Given the description of an element on the screen output the (x, y) to click on. 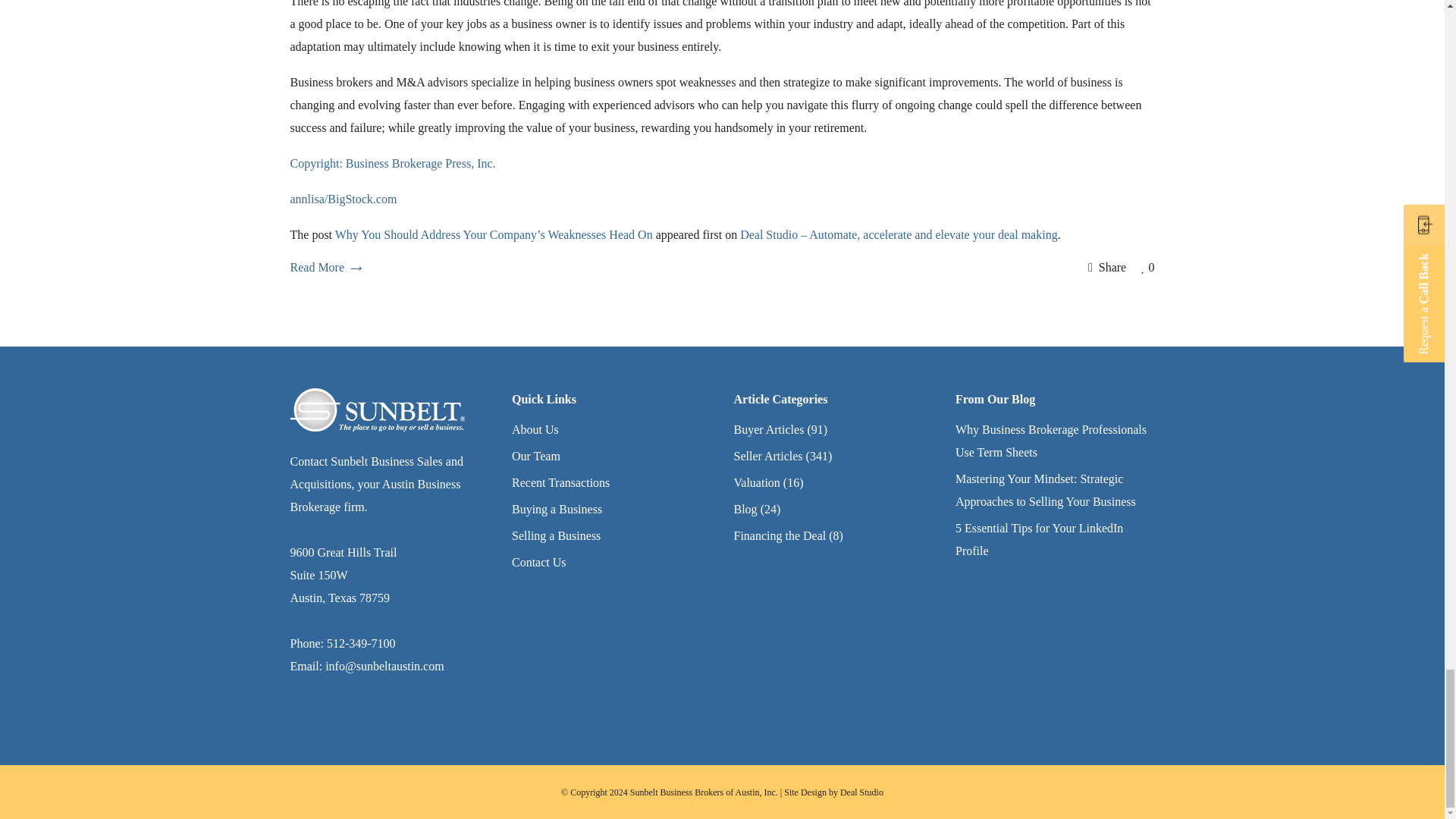
View all posts filed under Blog (745, 508)
View all posts filed under Valuation (756, 481)
View all posts filed under Buyer Articles (769, 429)
View all posts filed under Seller Articles (768, 455)
View all posts filed under Financing the Deal (780, 535)
